Given the description of an element on the screen output the (x, y) to click on. 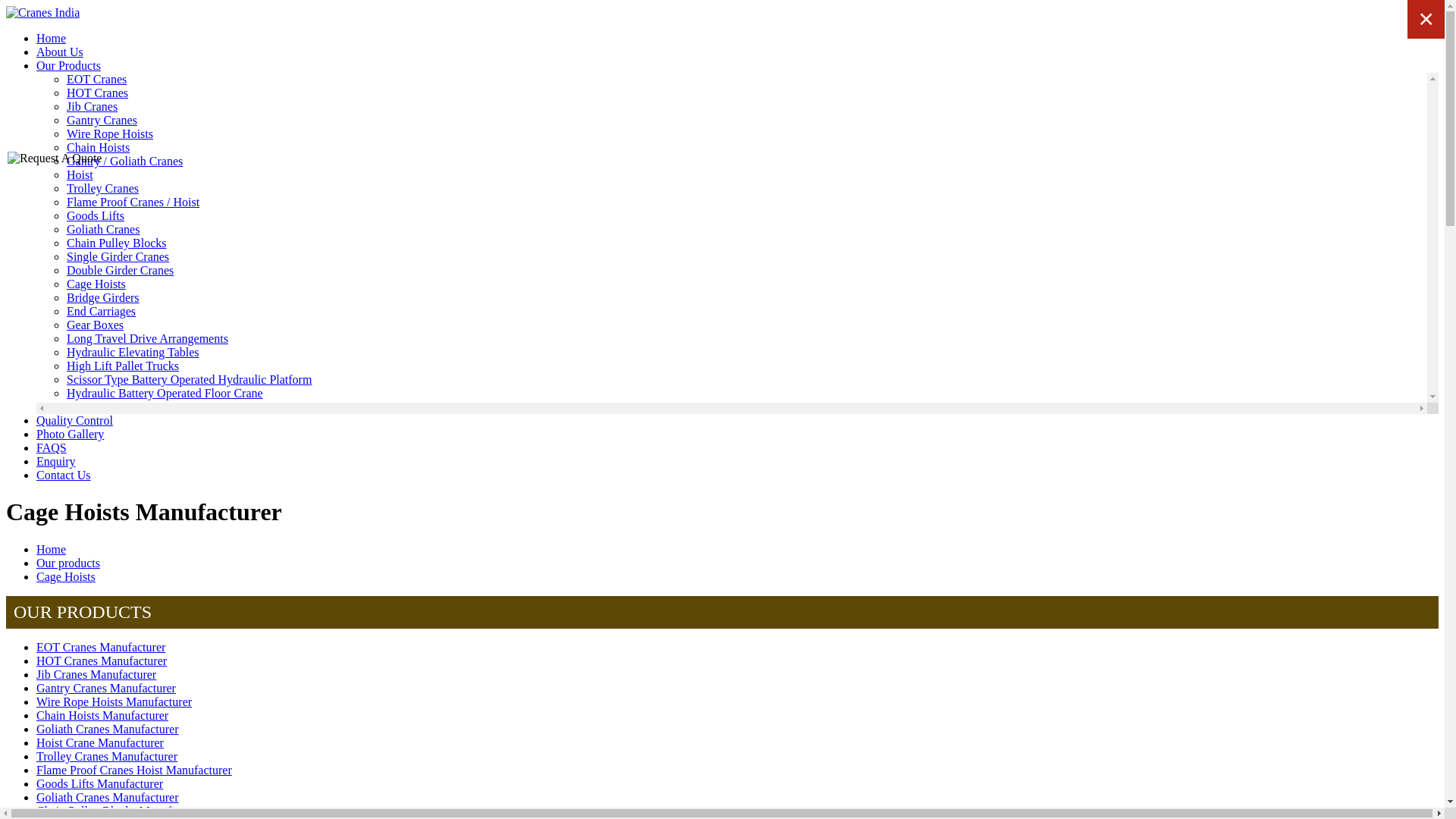
Jib Cranes (91, 106)
Double Girder Cranes (119, 269)
Quality Control (74, 420)
Long Travel Drive Arrangements (147, 338)
Trolley Cranes (102, 187)
Our Products (68, 65)
Goliath Cranes (102, 228)
EOT Cranes (96, 78)
Goods Lifts (94, 215)
Bridge Girders (102, 297)
